Given the description of an element on the screen output the (x, y) to click on. 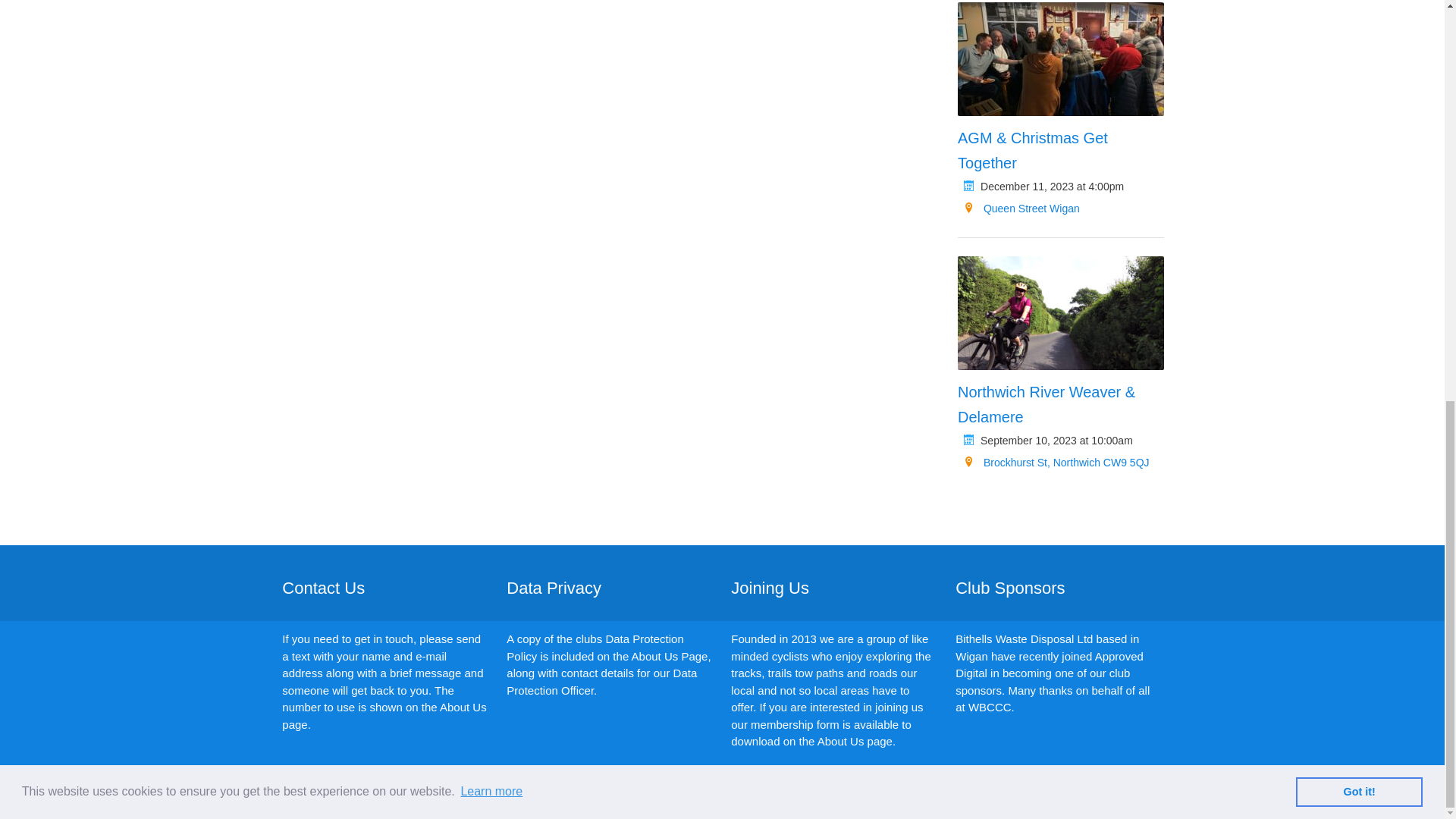
Approved Digital (1119, 801)
Brockhurst St, Northwich CW9 5QJ (1067, 462)
Queen Street Wigan (1032, 208)
Approved Digital (1119, 801)
Learn more (491, 8)
Got it! (1358, 10)
